Given the description of an element on the screen output the (x, y) to click on. 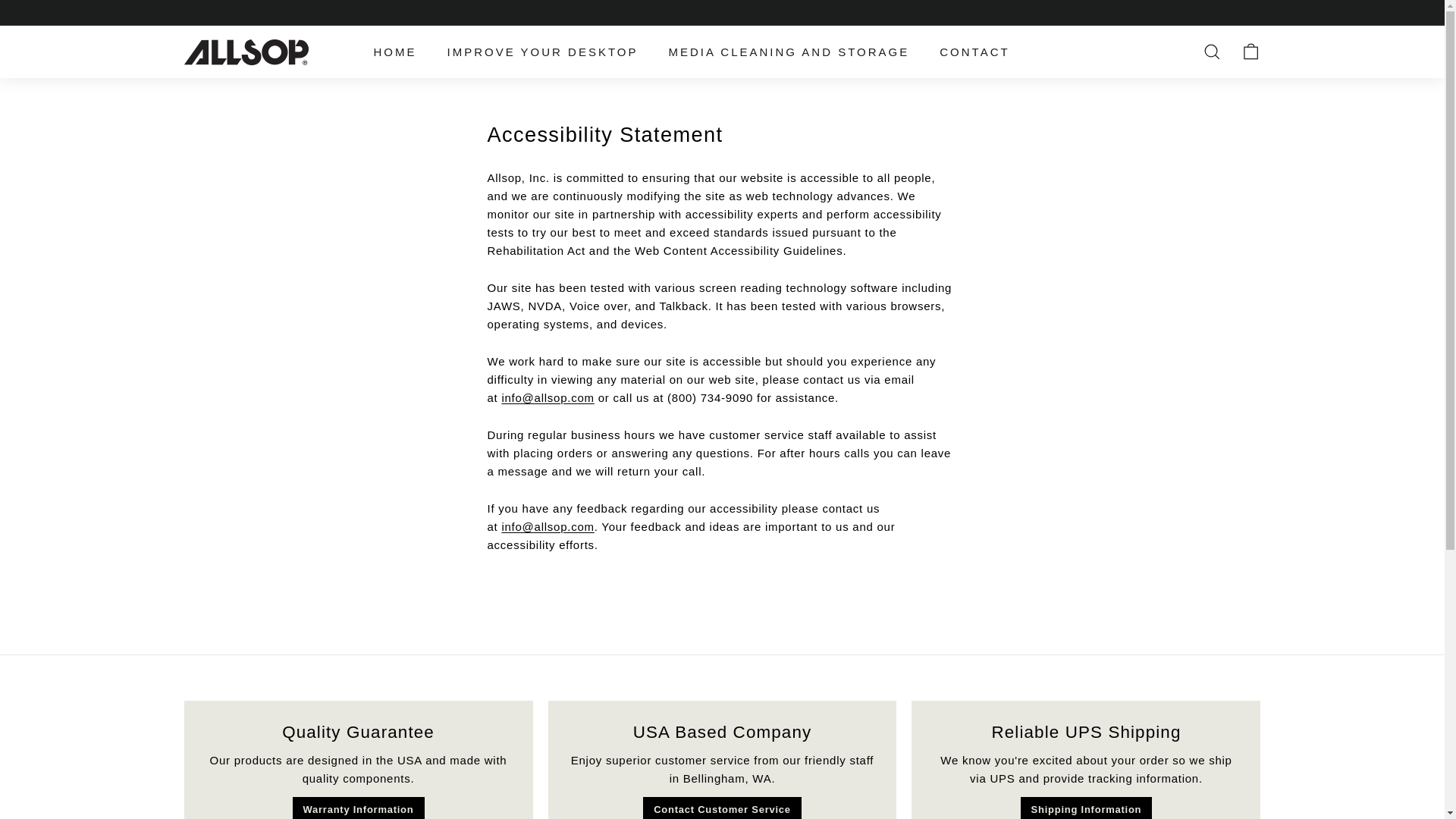
Shipping Information (1086, 807)
IMPROVE YOUR DESKTOP (542, 52)
Contact Customer Service (722, 807)
Warranty Information (358, 807)
HOME (394, 52)
MEDIA CLEANING AND STORAGE (788, 52)
CONTACT (974, 52)
